Given the description of an element on the screen output the (x, y) to click on. 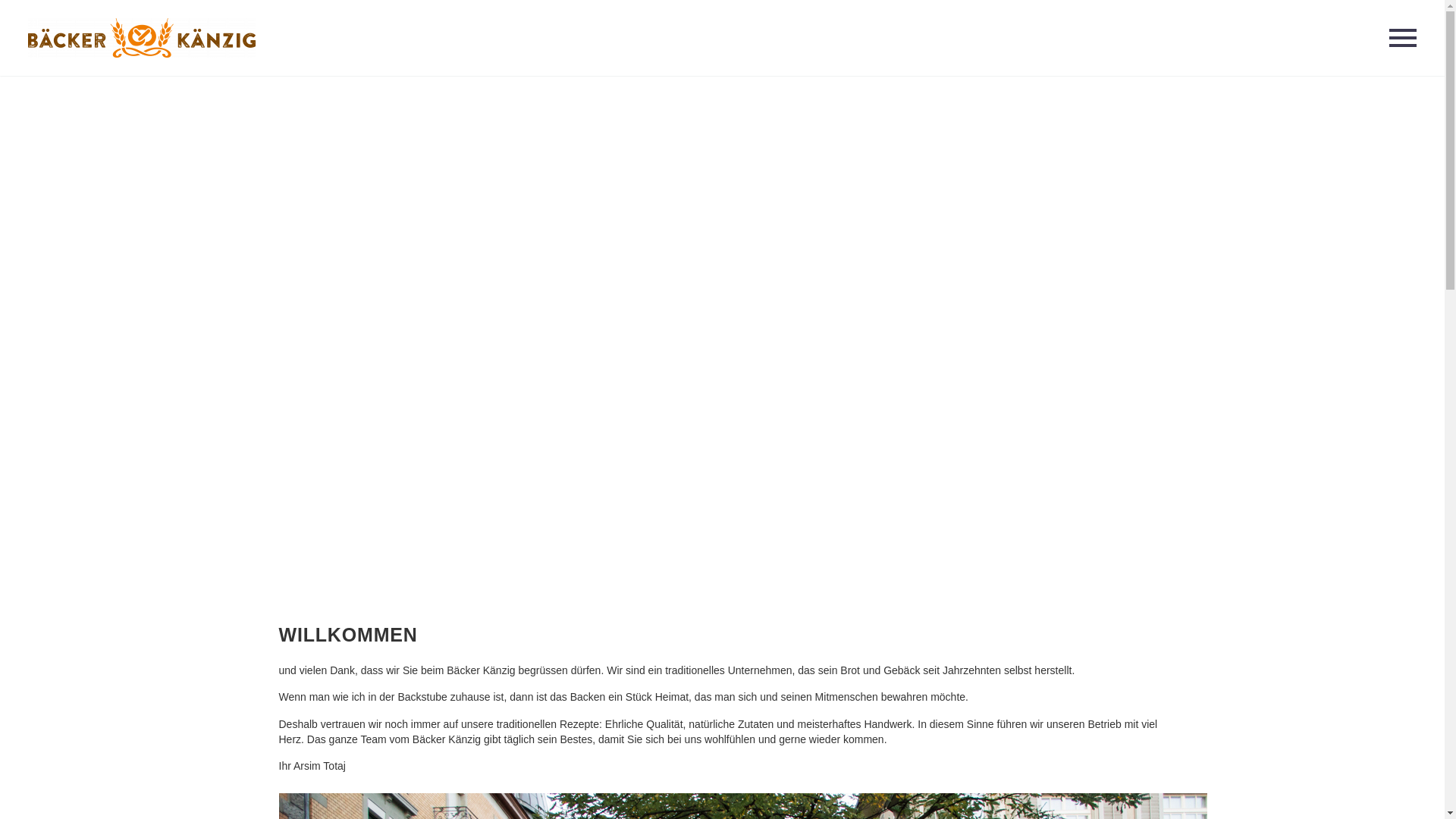
Primary Menu Element type: text (1402, 37)
